Given the description of an element on the screen output the (x, y) to click on. 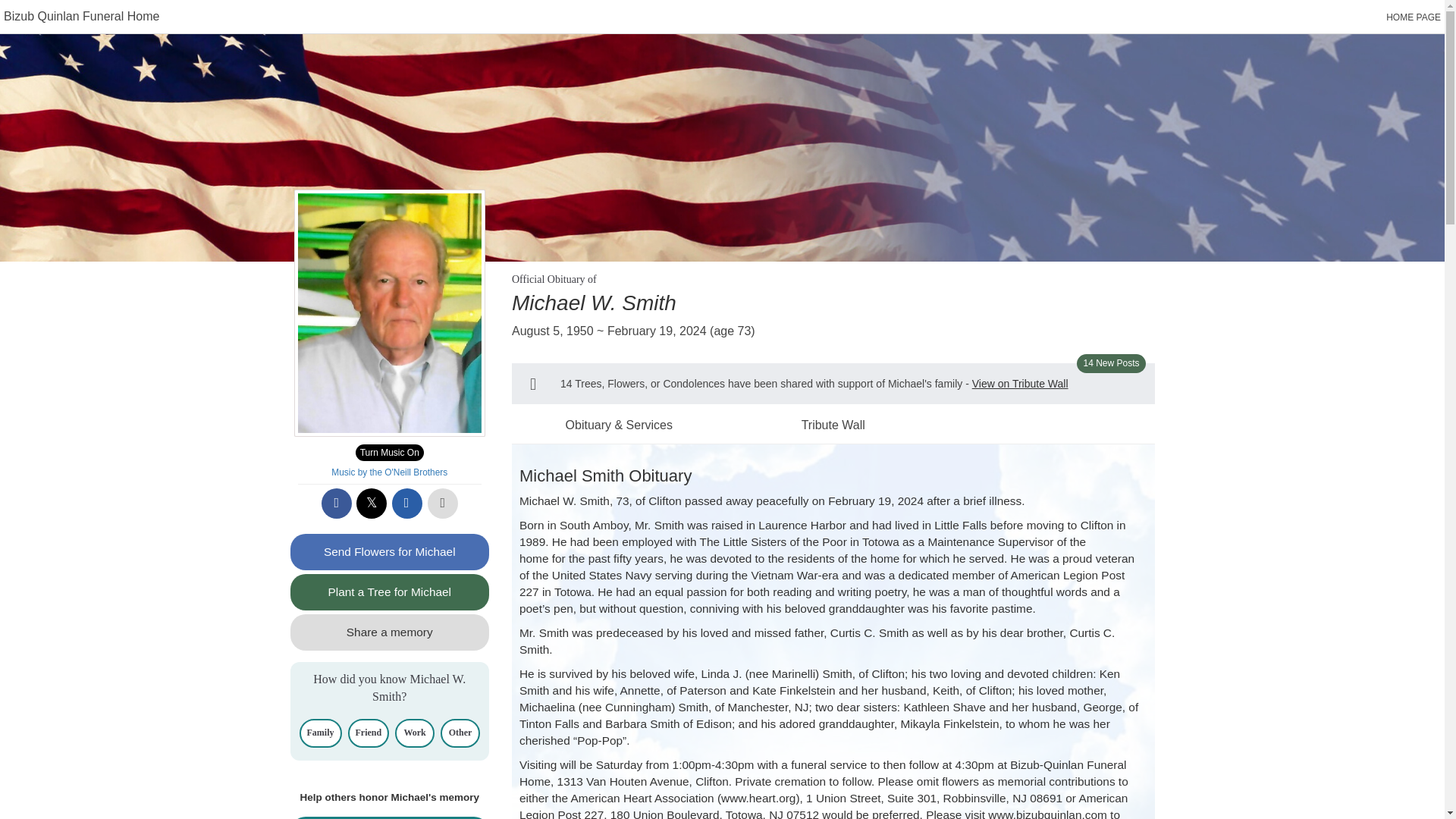
Share a memory (389, 632)
HOME PAGE (1413, 17)
Share to Facebook (336, 503)
Share Obituary (389, 817)
Music by the O'Neill Brothers (388, 471)
Turn Music On (389, 452)
Send Flowers for Michael (389, 551)
View on Tribute Wall (1020, 383)
Bizub Quinlan Funeral Home (81, 15)
Share via email (406, 503)
Printable copy (443, 503)
Share on X (371, 503)
Plant a Tree for Michael (389, 592)
